Given the description of an element on the screen output the (x, y) to click on. 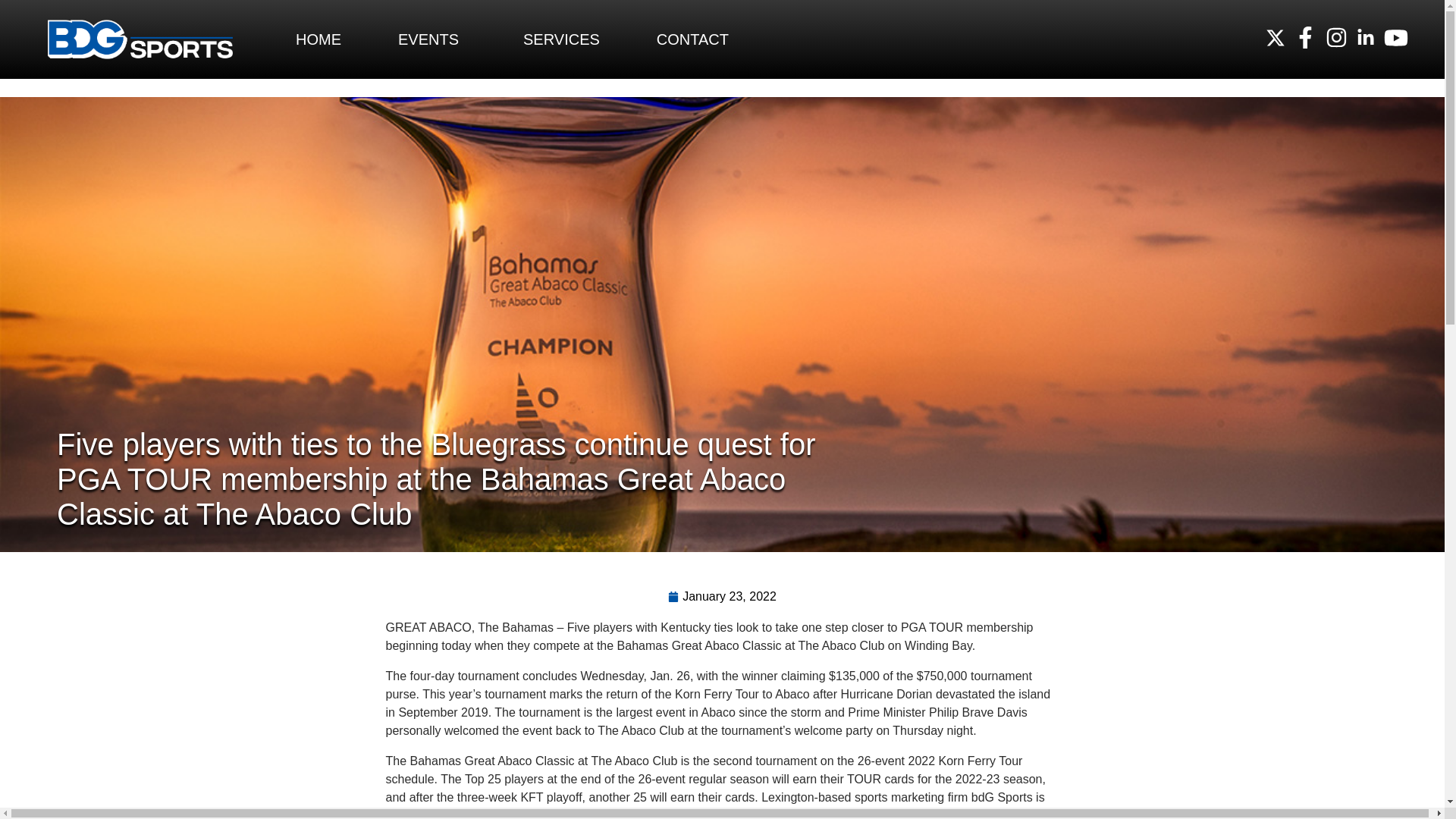
January 23, 2022 (722, 596)
EVENTS (431, 38)
SERVICES (560, 38)
HOME (317, 38)
CONTACT (692, 38)
